Given the description of an element on the screen output the (x, y) to click on. 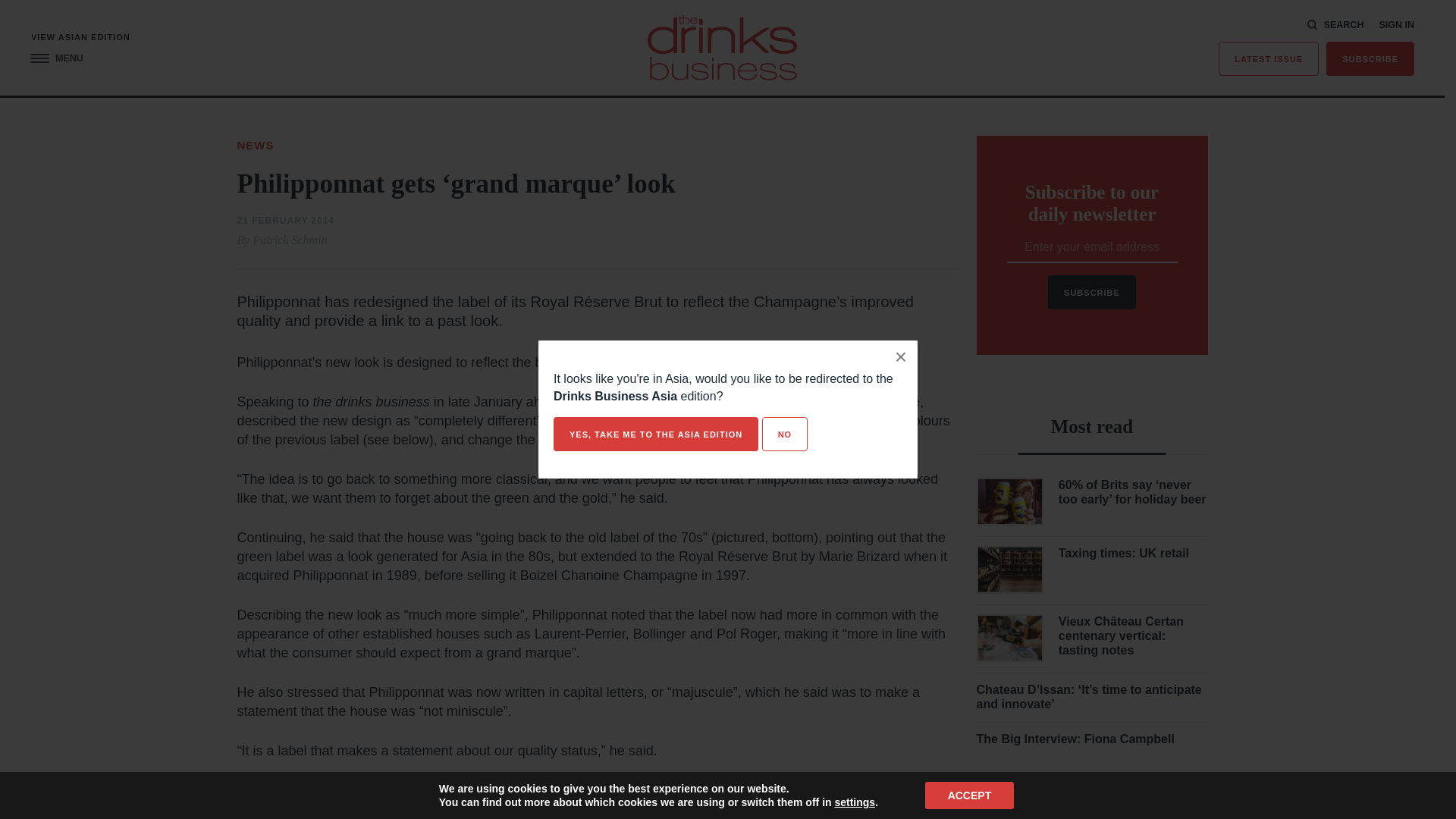
SUBSCRIBE (1369, 58)
LATEST ISSUE (1268, 58)
VIEW ASIAN EDITION (80, 37)
SIGN IN (1395, 25)
NO (784, 433)
YES, TAKE ME TO THE ASIA EDITION (655, 433)
The Drinks Business (721, 47)
